Given the description of an element on the screen output the (x, y) to click on. 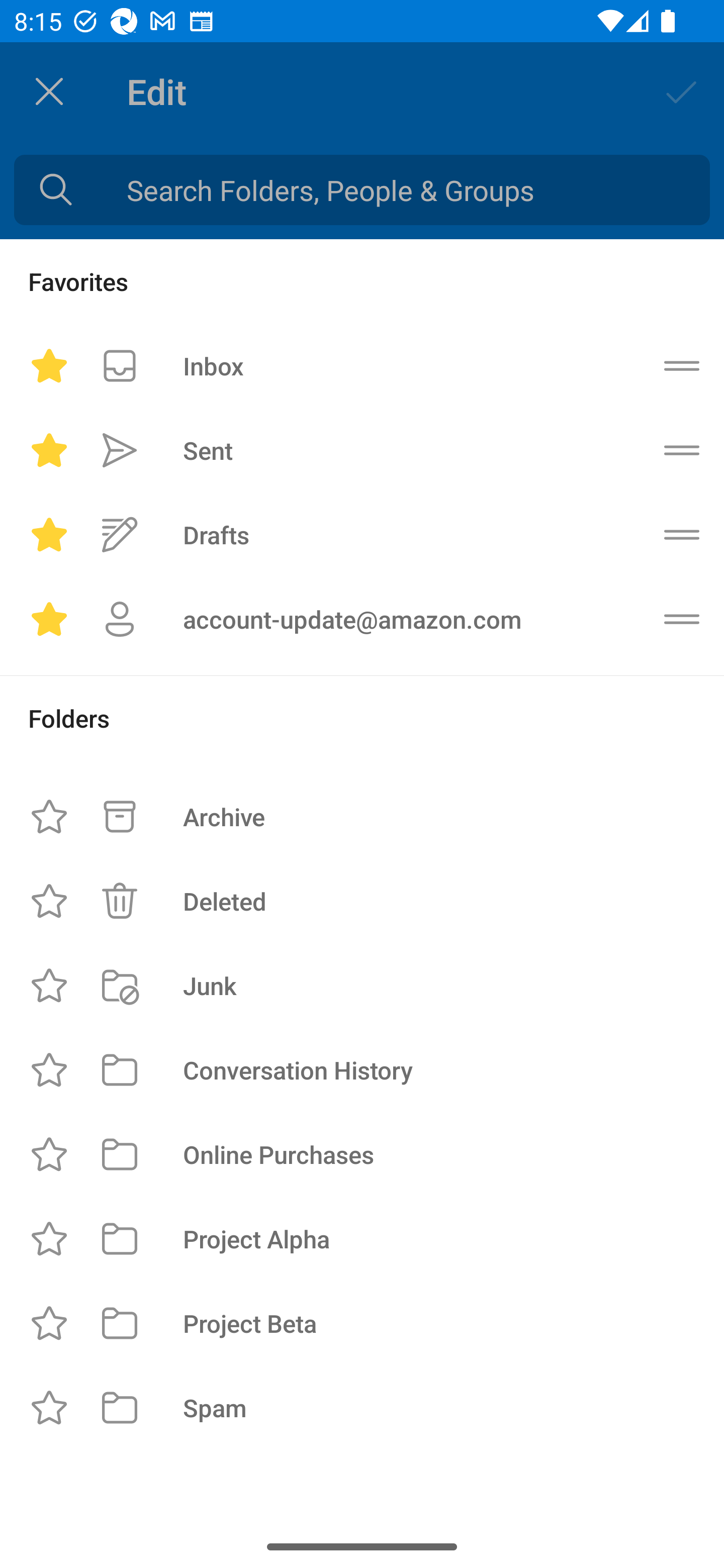
Cancel (49, 91)
Done (681, 90)
Search Folders, People & Groups (361, 190)
Remove Inbox from favorite (49, 365)
Reorder Inbox (681, 365)
Remove Sent from favorite (49, 449)
Reorder Sent (681, 449)
Remove Drafts from favorite (49, 534)
Reorder Drafts (681, 534)
Remove account-update@amazon.com from favorite (49, 619)
Reorder account-update@amazon.com (681, 619)
Add Archive to favorite (49, 816)
Add Deleted to favorite (49, 901)
Add Junk to favorite (49, 985)
Add Conversation History to favorite (49, 1069)
Add Online Purchases to favorite (49, 1153)
Add Project Alpha to favorite (49, 1238)
Add Project Beta to favorite (49, 1323)
Add Spam to favorite (49, 1407)
